Given the description of an element on the screen output the (x, y) to click on. 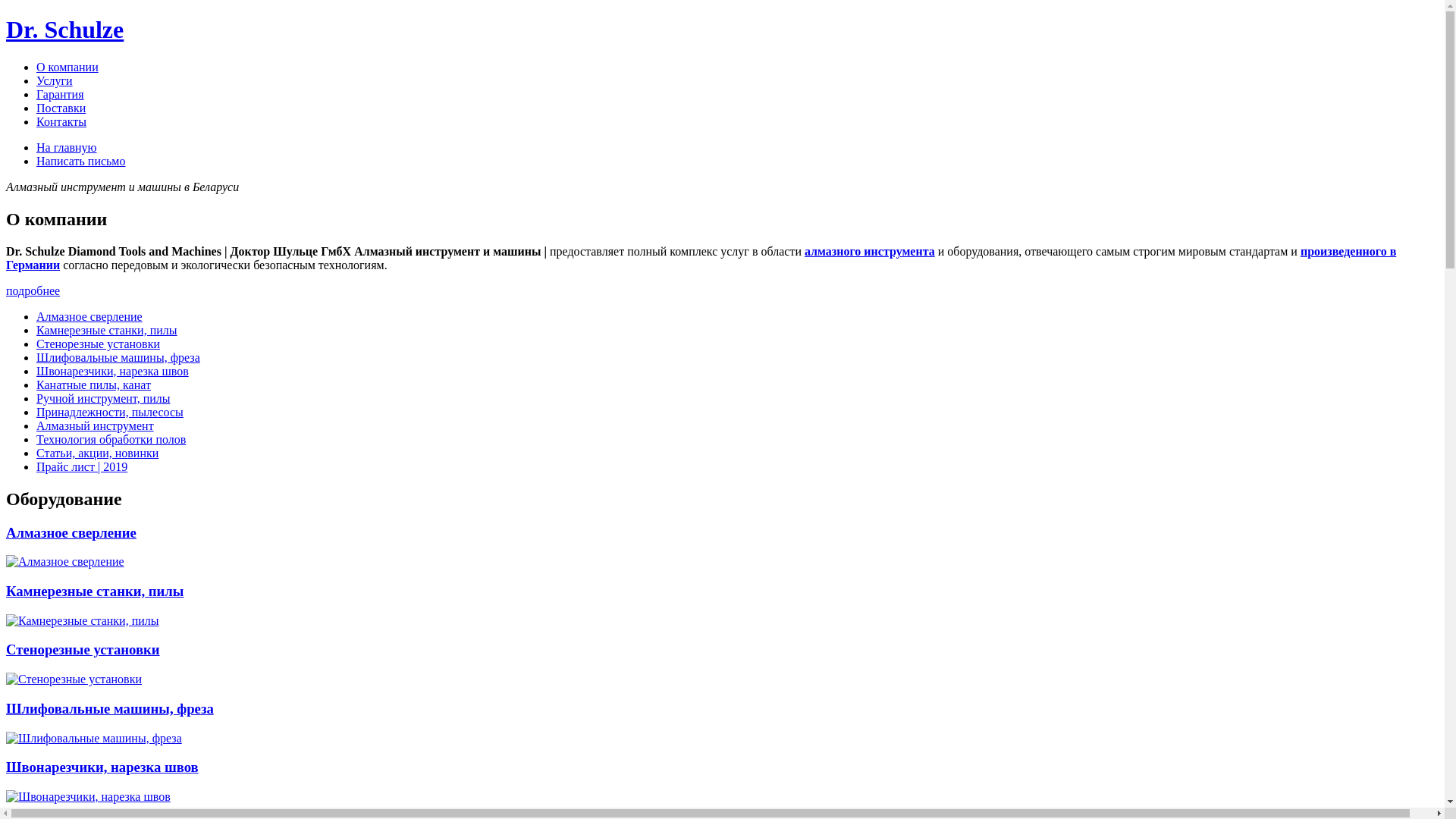
Dr. Schulze Element type: text (64, 29)
